Given the description of an element on the screen output the (x, y) to click on. 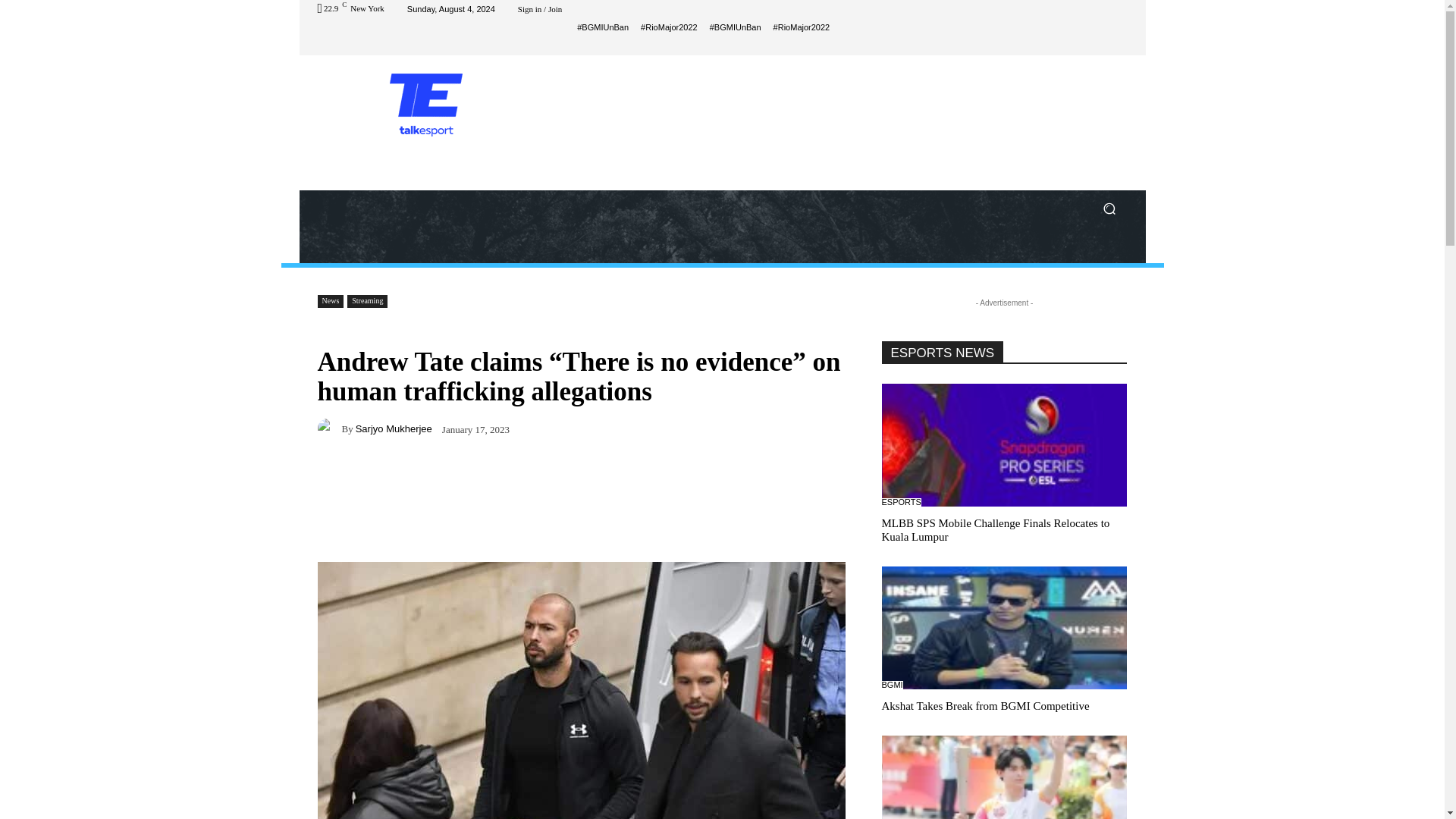
Sarjyo Mukherjee (328, 428)
